Given the description of an element on the screen output the (x, y) to click on. 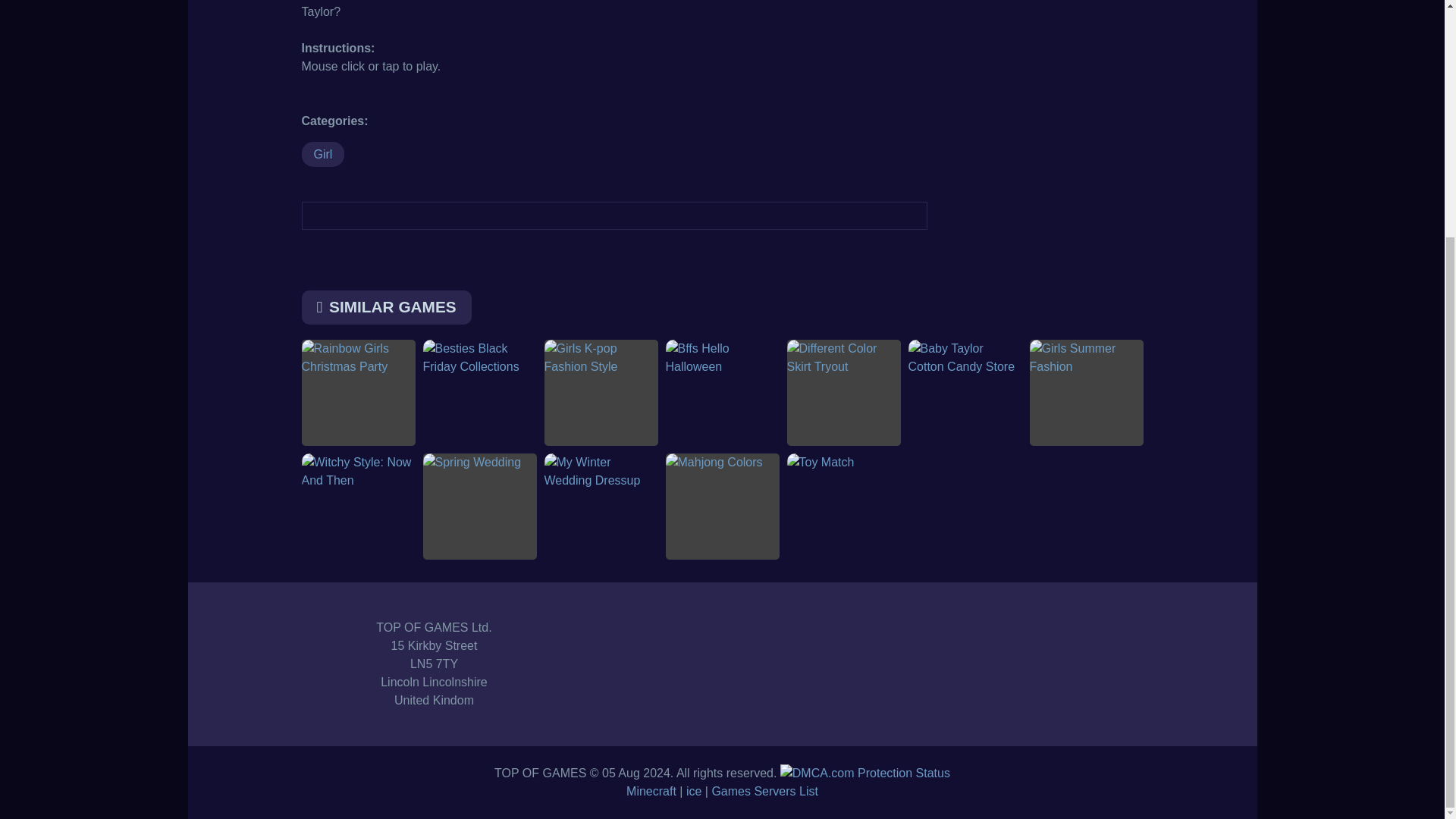
ice (693, 790)
Minecraft (651, 790)
Games Servers List (763, 790)
DMCA.com Protection Status (865, 772)
